Given the description of an element on the screen output the (x, y) to click on. 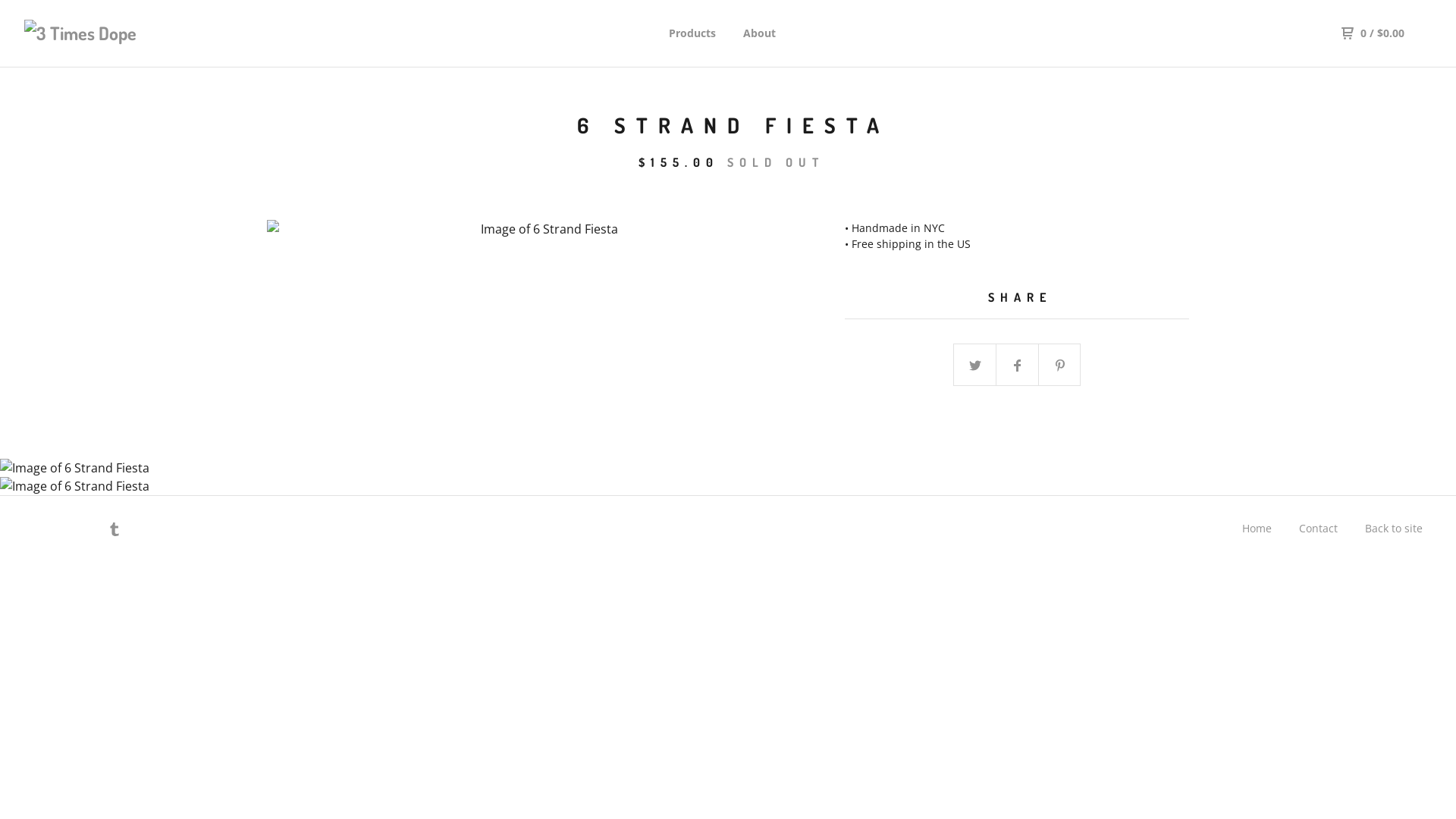
Back to site Element type: text (1393, 527)
Products Element type: text (691, 32)
Powered by Big Cartel Element type: text (54, 529)
3 Times Dope Element type: hover (103, 33)
0 / $0.00 Element type: text (1372, 32)
Contact Element type: text (1318, 527)
Home Element type: text (1256, 527)
Follow us on Tumblr Element type: hover (114, 530)
About Element type: text (759, 32)
